Given the description of an element on the screen output the (x, y) to click on. 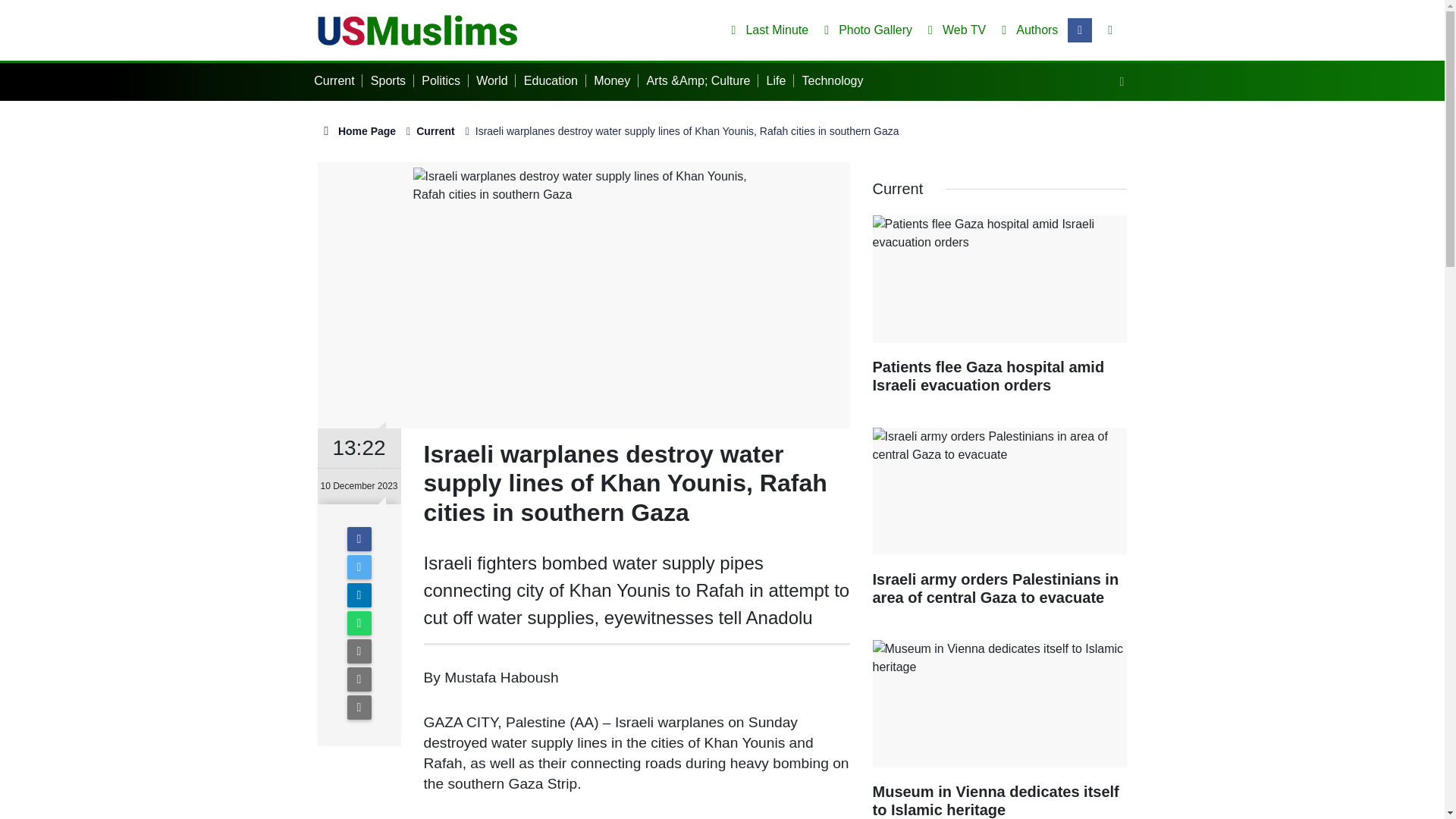
Education (555, 80)
Technology (836, 80)
Life (780, 80)
Print (359, 679)
Education (555, 80)
Museum in Vienna dedicates itself to Islamic heritage (999, 729)
Last Minute (766, 29)
Web TV (953, 29)
Authors (1026, 29)
